Given the description of an element on the screen output the (x, y) to click on. 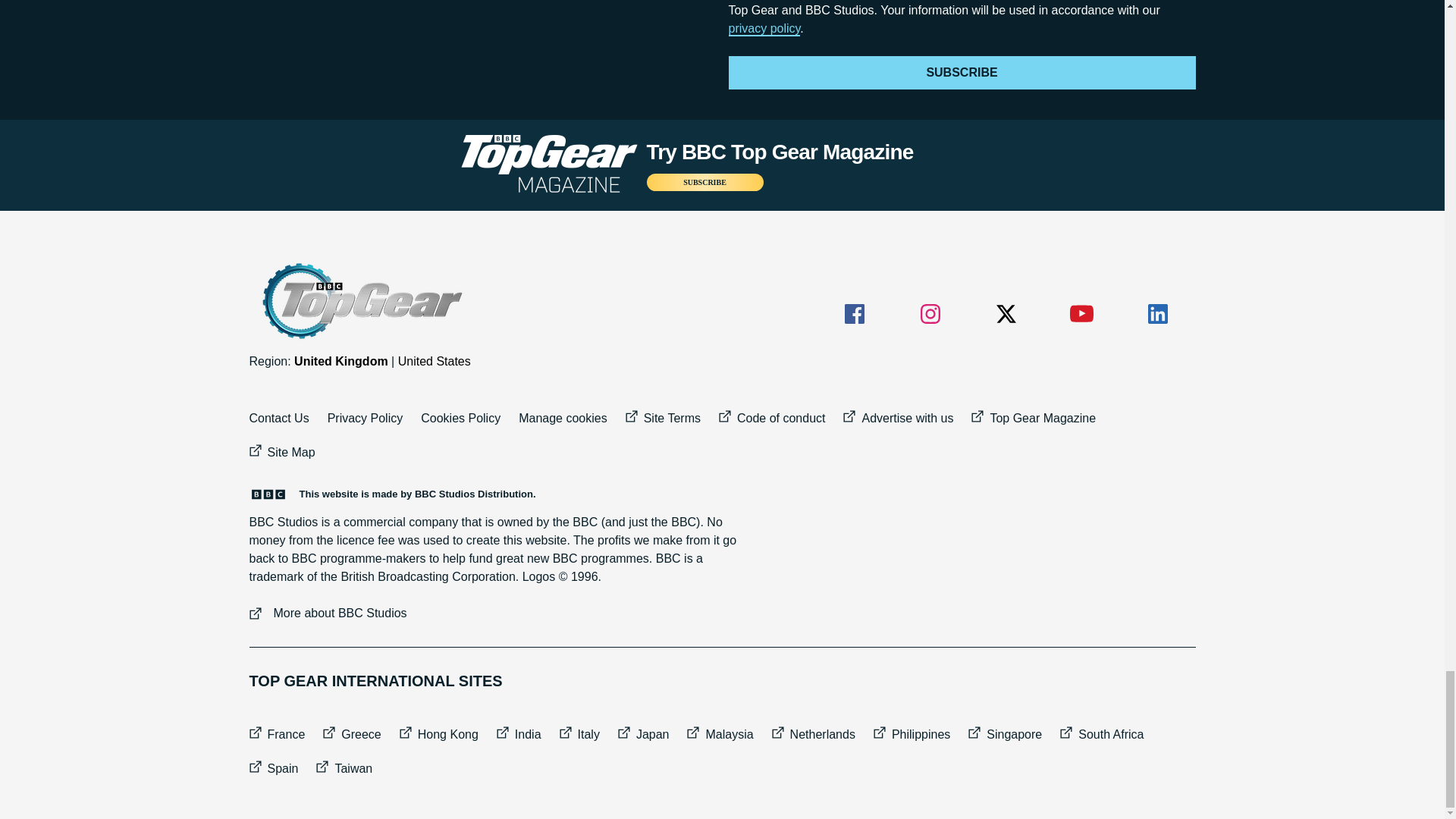
Home (359, 301)
